Given the description of an element on the screen output the (x, y) to click on. 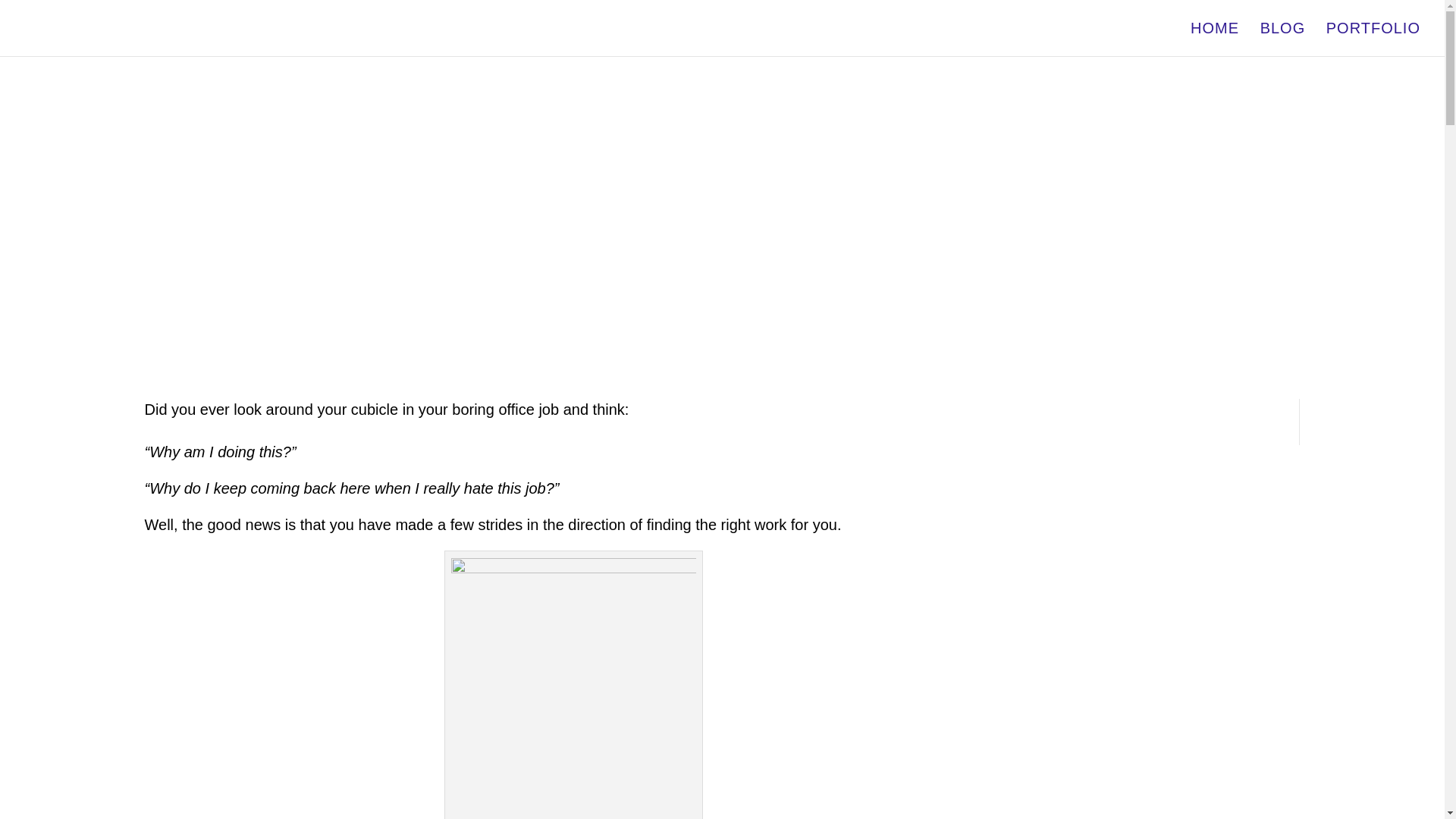
PORTFOLIO (1373, 39)
HOME (1215, 39)
BLOG (1283, 39)
